Given the description of an element on the screen output the (x, y) to click on. 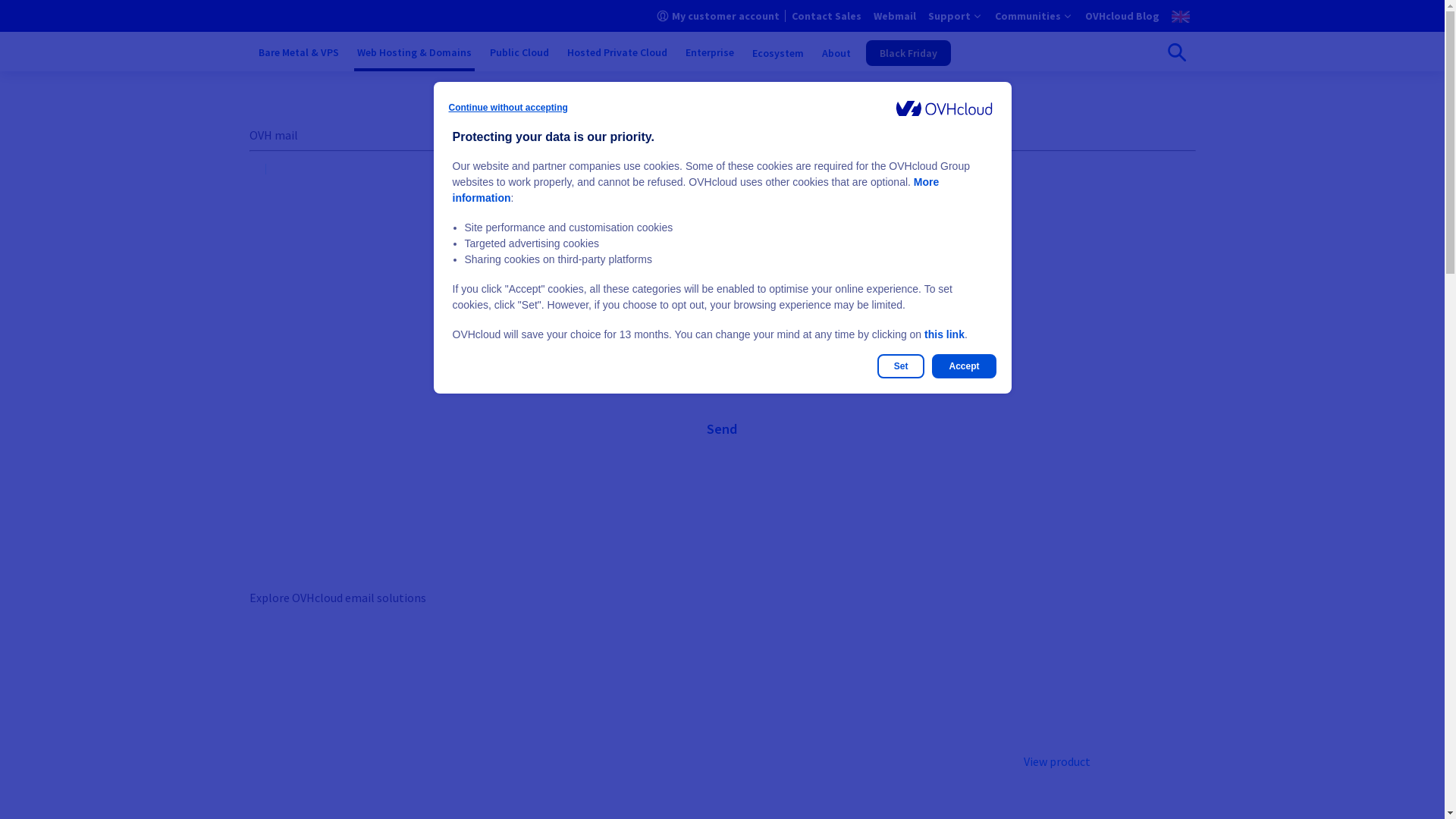
Black Friday Element type: text (908, 52)
this link Element type: text (944, 334)
Web Hosting & Domains Element type: text (413, 52)
Support Element type: text (955, 15)
Set Element type: text (901, 366)
Continue without accepting Element type: text (507, 107)
Public Cloud Element type: text (519, 52)
Enterprise Element type: text (709, 52)
OVHcloud Blog Element type: text (1121, 15)
Order now Element type: text (319, 756)
Bare Metal & VPS Element type: text (297, 52)
Communities Element type: text (1033, 15)
Accept Element type: text (963, 366)
Hosted Private Cloud Element type: text (617, 52)
Open search bar Element type: text (1176, 52)
Contact Sales Element type: text (826, 15)
About Element type: text (836, 52)
View product Element type: text (1056, 760)
Send Element type: text (721, 429)
My customer account Element type: text (717, 15)
Order now Element type: text (560, 756)
Order now Element type: text (800, 756)
More information Element type: text (694, 189)
Webmail Element type: text (894, 15)
Ecosystem Element type: text (777, 52)
